Given the description of an element on the screen output the (x, y) to click on. 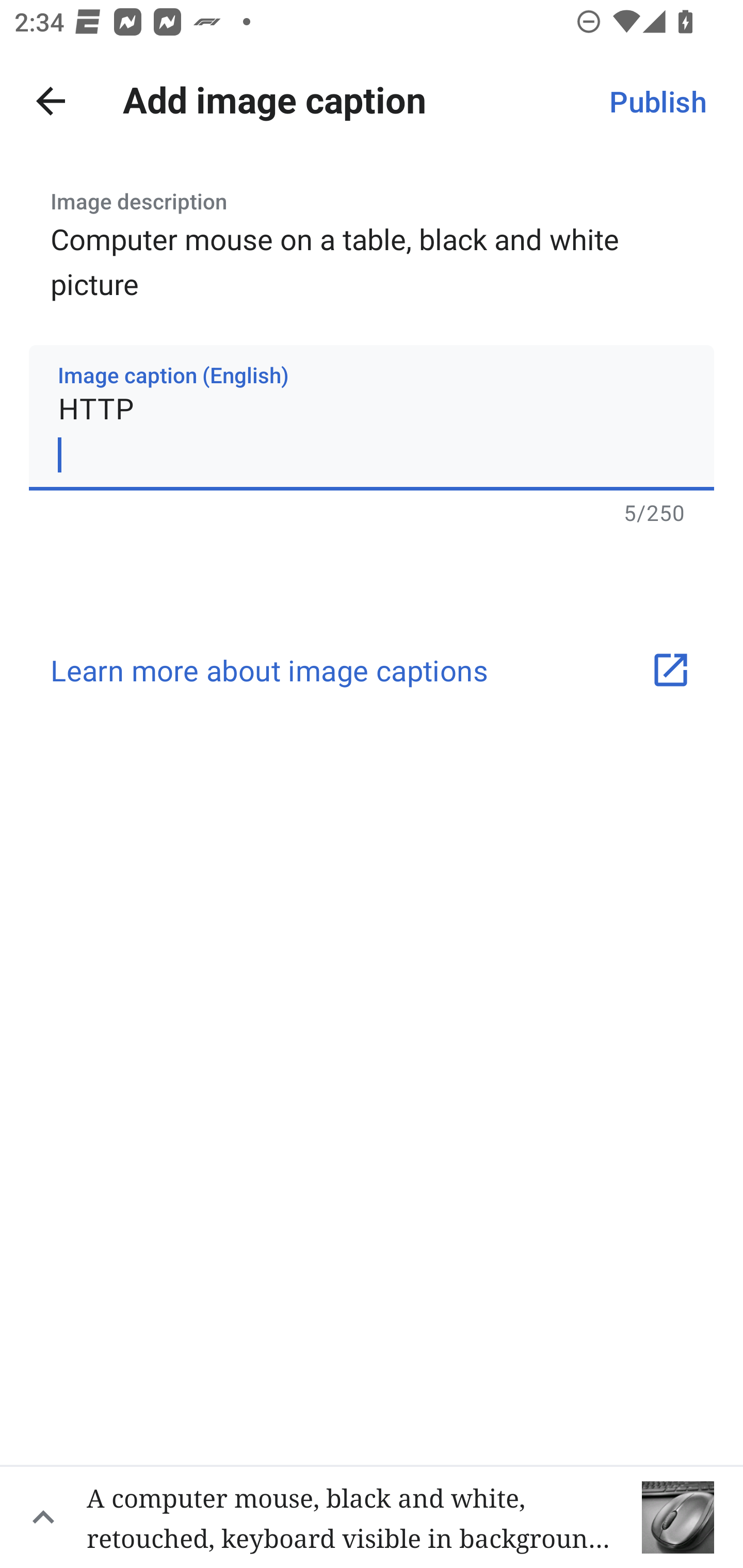
Cancel (50, 101)
Publish (657, 101)
HTTP
 (371, 417)
Learn more about image captions (371, 670)
